Given the description of an element on the screen output the (x, y) to click on. 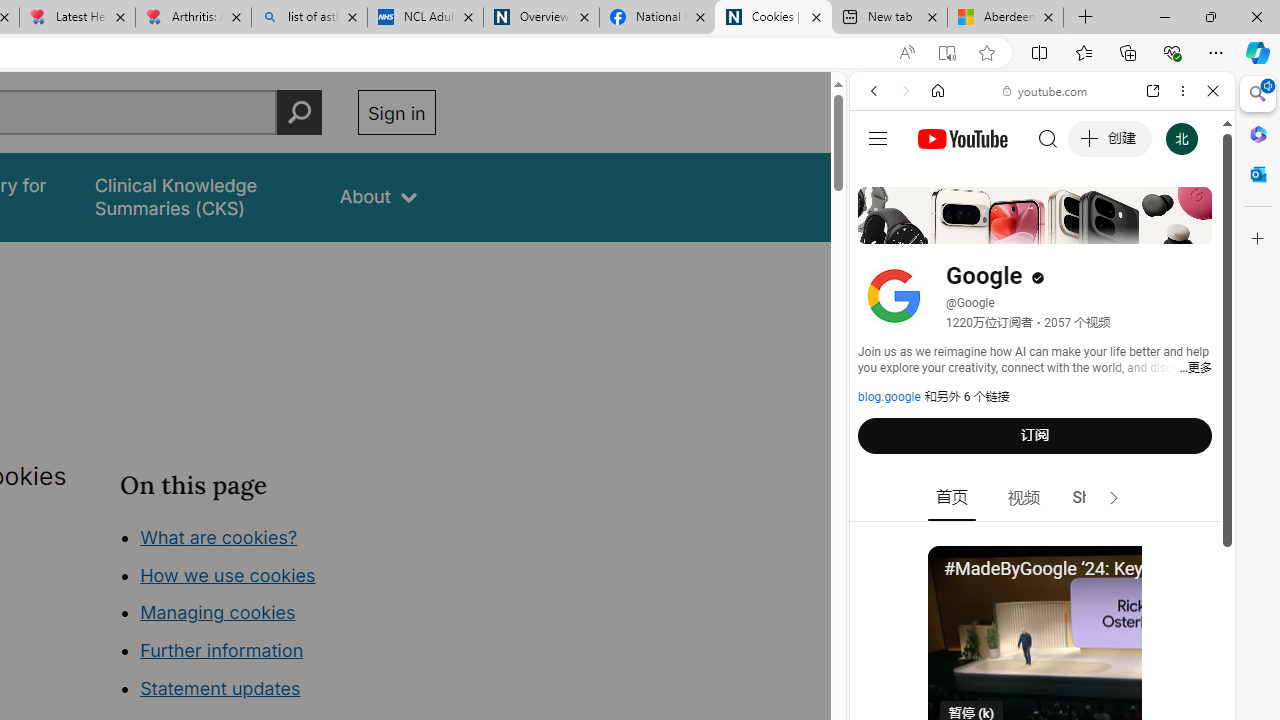
Statement updates (219, 688)
Shorts (1096, 497)
